Given the description of an element on the screen output the (x, y) to click on. 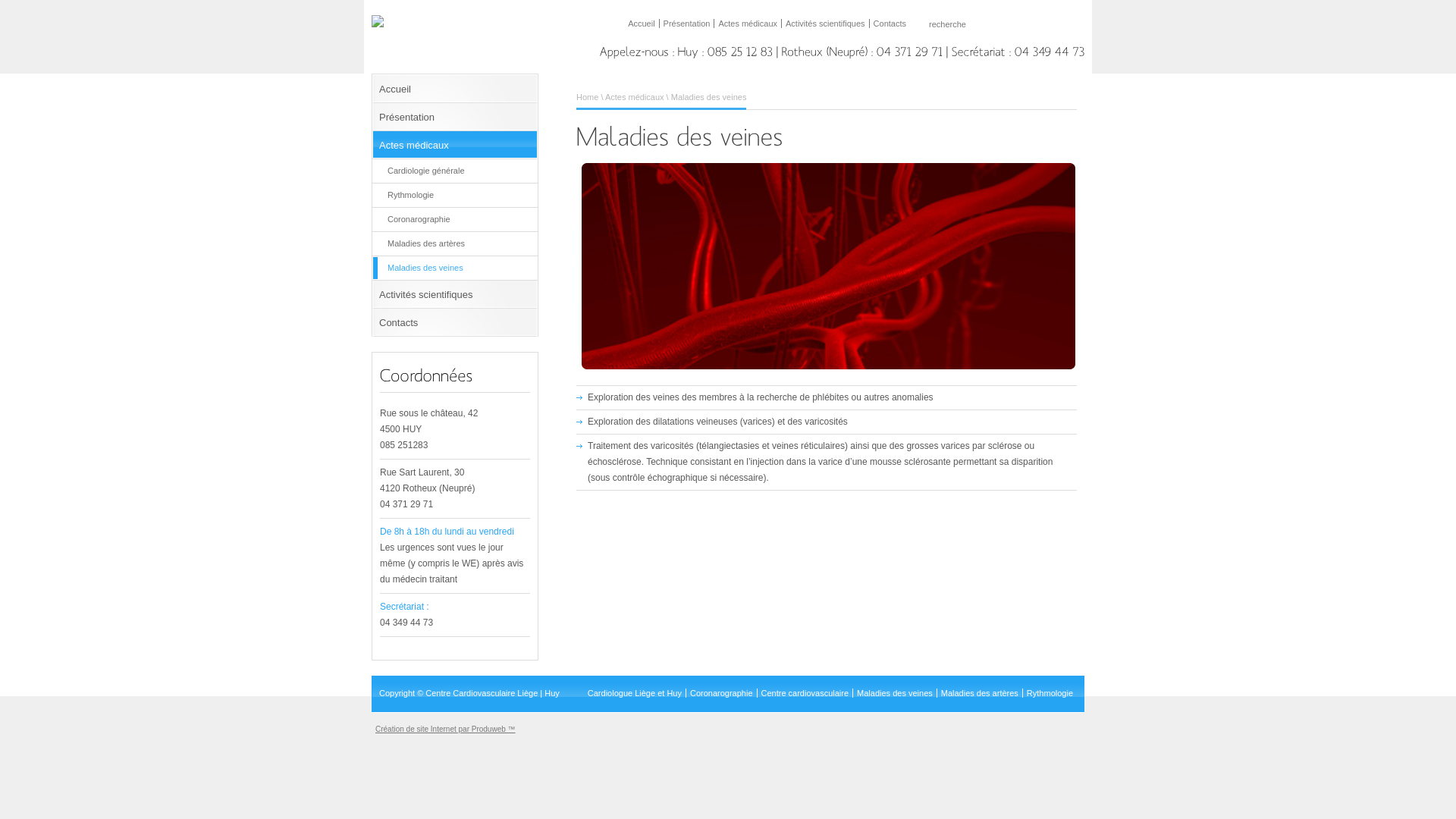
Centre cardiovasculaire Element type: text (805, 692)
Maladies des veines Element type: text (894, 692)
Maladies des veines Element type: text (454, 268)
Accueil Element type: text (640, 23)
Contacts Element type: text (889, 23)
Coronarographie Element type: text (721, 692)
Rythmologie Element type: text (454, 195)
Rythmologie Element type: text (1049, 692)
Contacts Element type: text (454, 322)
Coronarographie Element type: text (454, 219)
maladies-des-veines Element type: hover (827, 265)
Home Element type: text (587, 96)
Accueil Element type: text (454, 89)
